Given the description of an element on the screen output the (x, y) to click on. 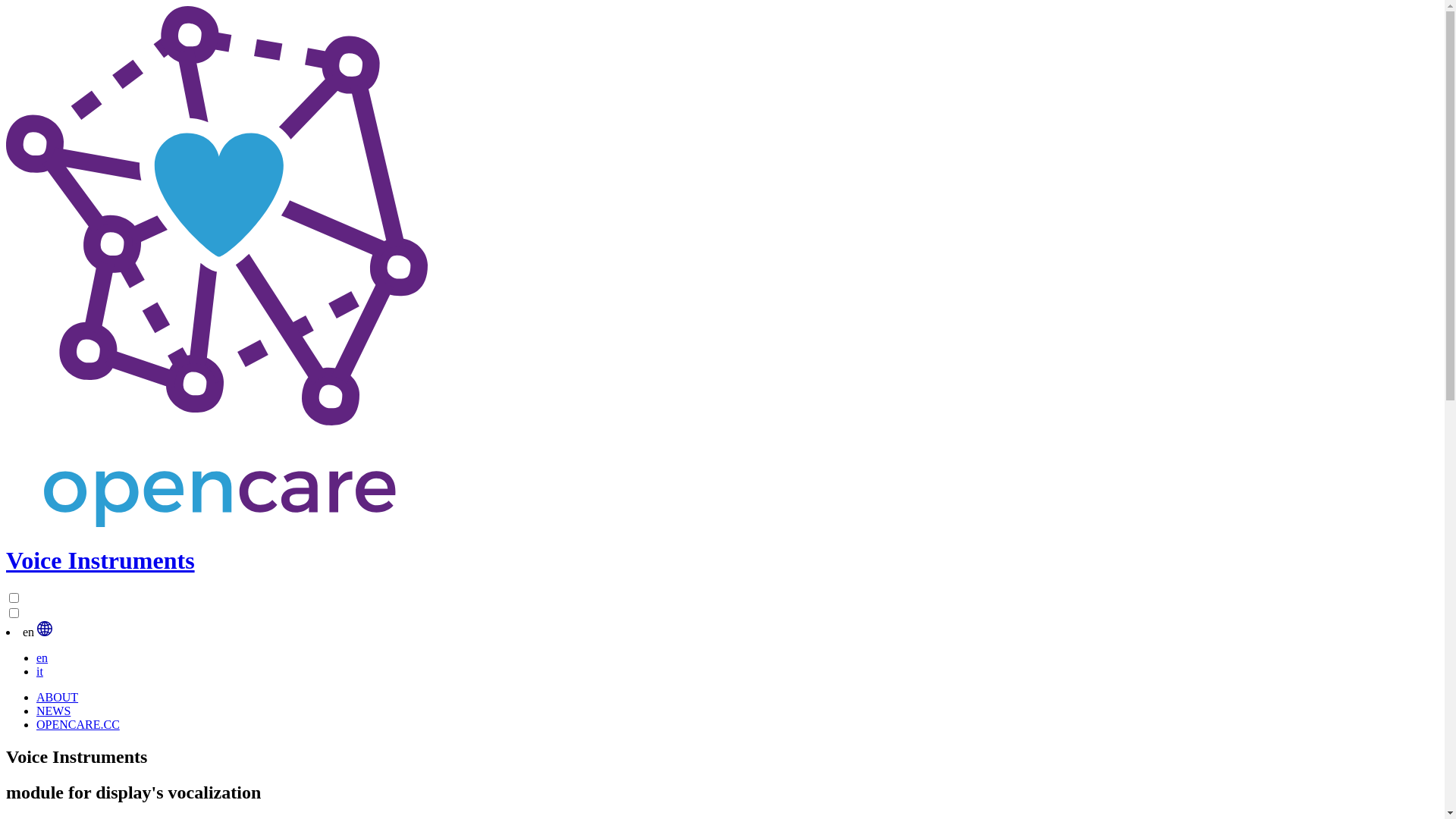
en Element type: text (41, 657)
NEWS Element type: text (53, 710)
Voice Instruments Element type: text (722, 545)
it Element type: text (39, 671)
OPENCARE.CC Element type: text (77, 724)
ABOUT Element type: text (57, 696)
